Given the description of an element on the screen output the (x, y) to click on. 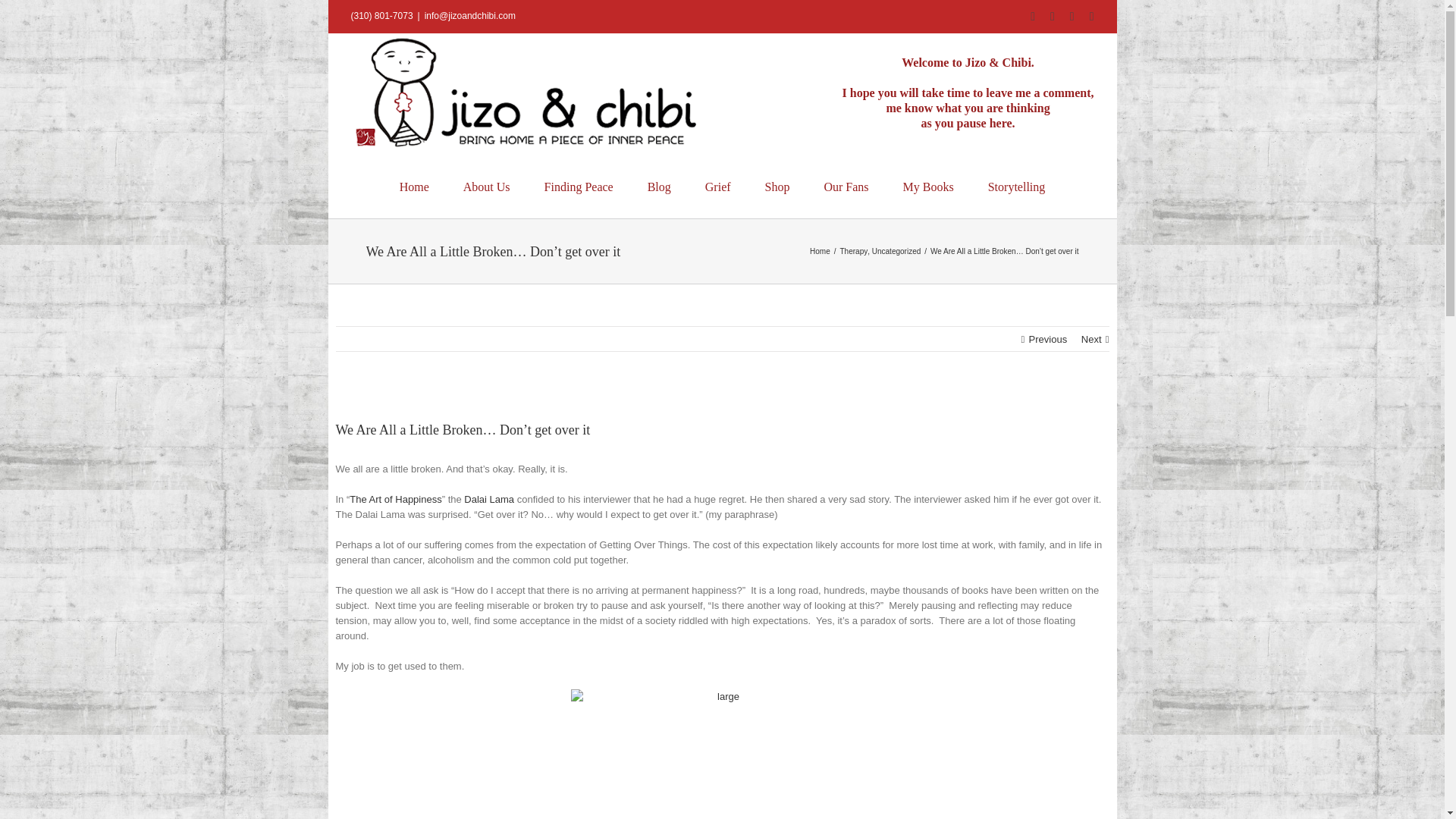
Therapy (853, 251)
Uncategorized (896, 251)
Home (819, 251)
Finding Peace (578, 185)
The Art of Happiness (395, 499)
Storytelling (1016, 185)
Dalai Lama (488, 499)
Previous (1048, 339)
